Given the description of an element on the screen output the (x, y) to click on. 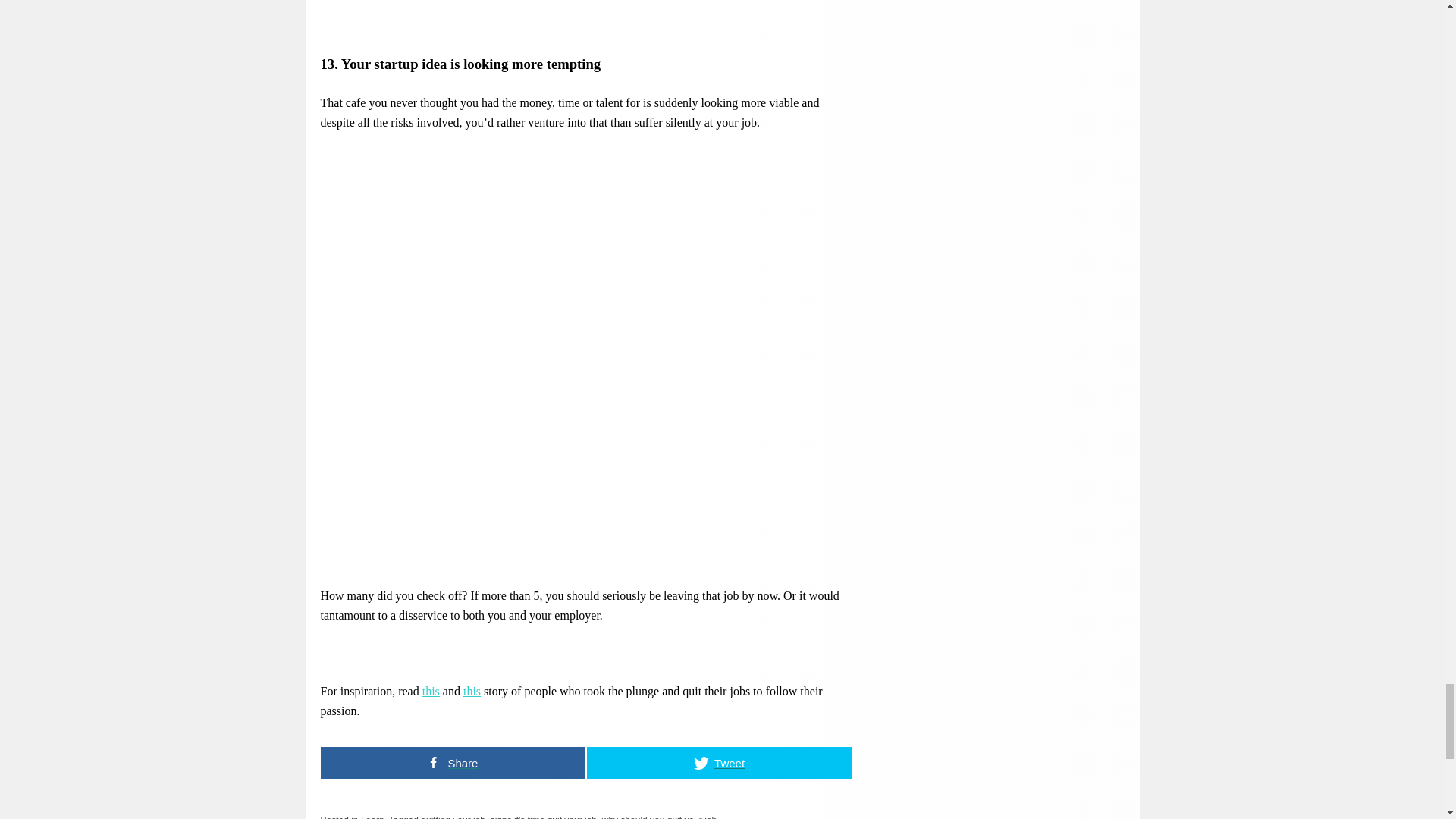
Share (452, 762)
this (430, 689)
this (471, 689)
